Given the description of an element on the screen output the (x, y) to click on. 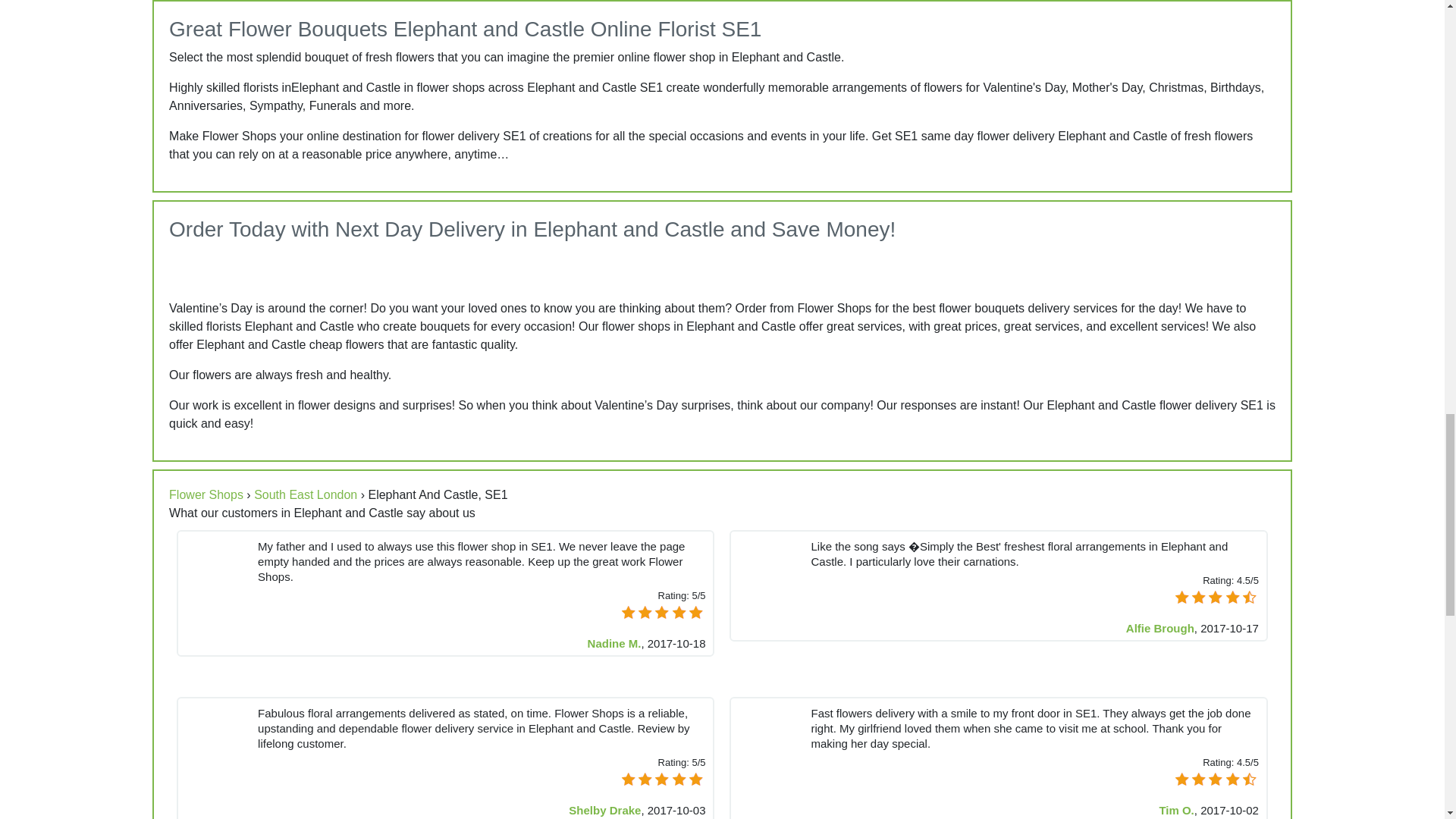
Flower Shops (205, 494)
South East London (304, 494)
